Given the description of an element on the screen output the (x, y) to click on. 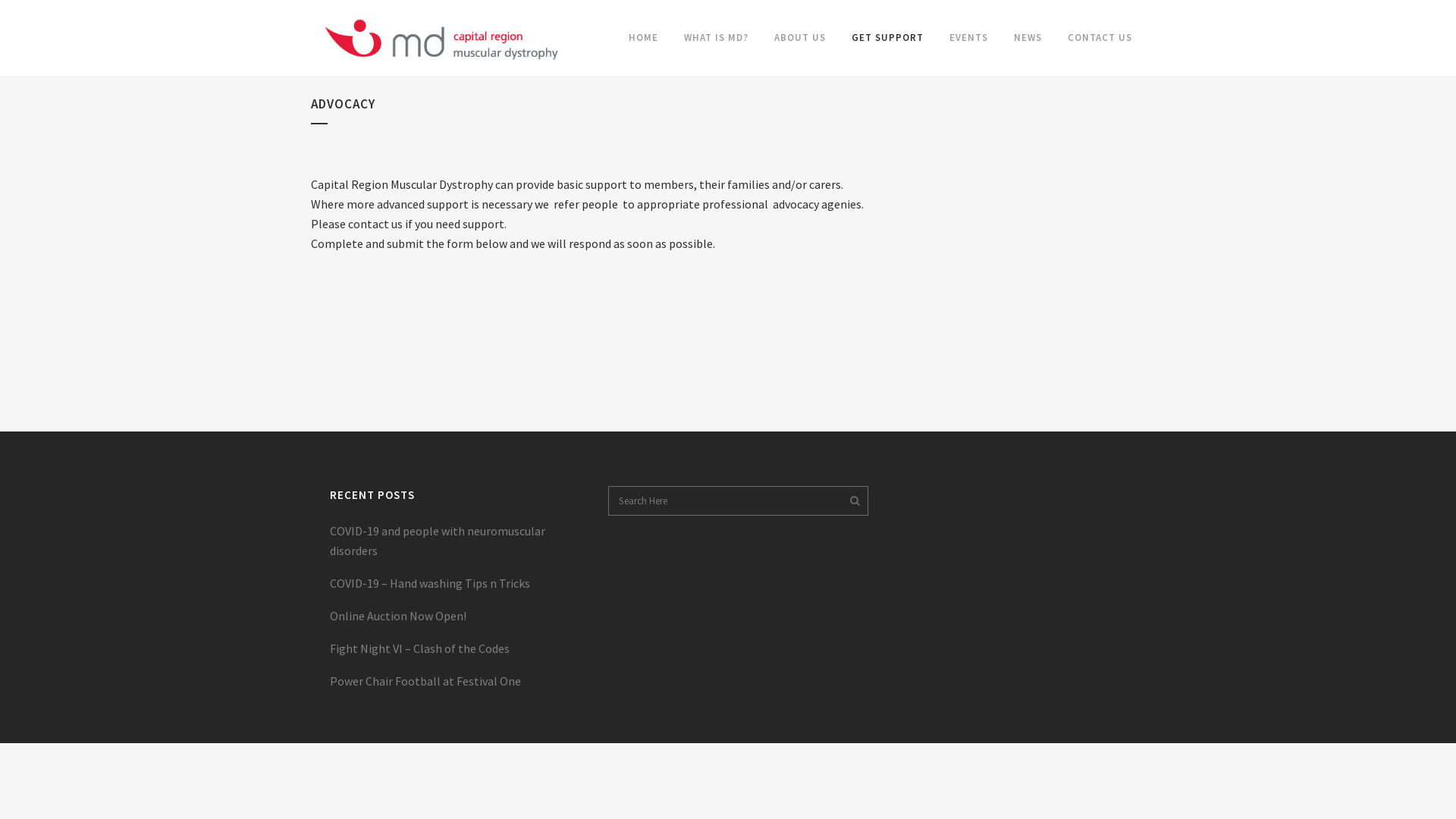
NEWS Element type: text (1027, 37)
Online Auction Now Open! Element type: text (457, 615)
CONTACT US Element type: text (1099, 37)
ABOUT US Element type: text (799, 37)
Power Chair Football at Festival One Element type: text (457, 680)
EVENTS Element type: text (968, 37)
WHAT IS MD? Element type: text (716, 37)
GET SUPPORT Element type: text (887, 37)
HOME Element type: text (643, 37)
COVID-19 and people with neuromuscular disorders Element type: text (457, 540)
